Given the description of an element on the screen output the (x, y) to click on. 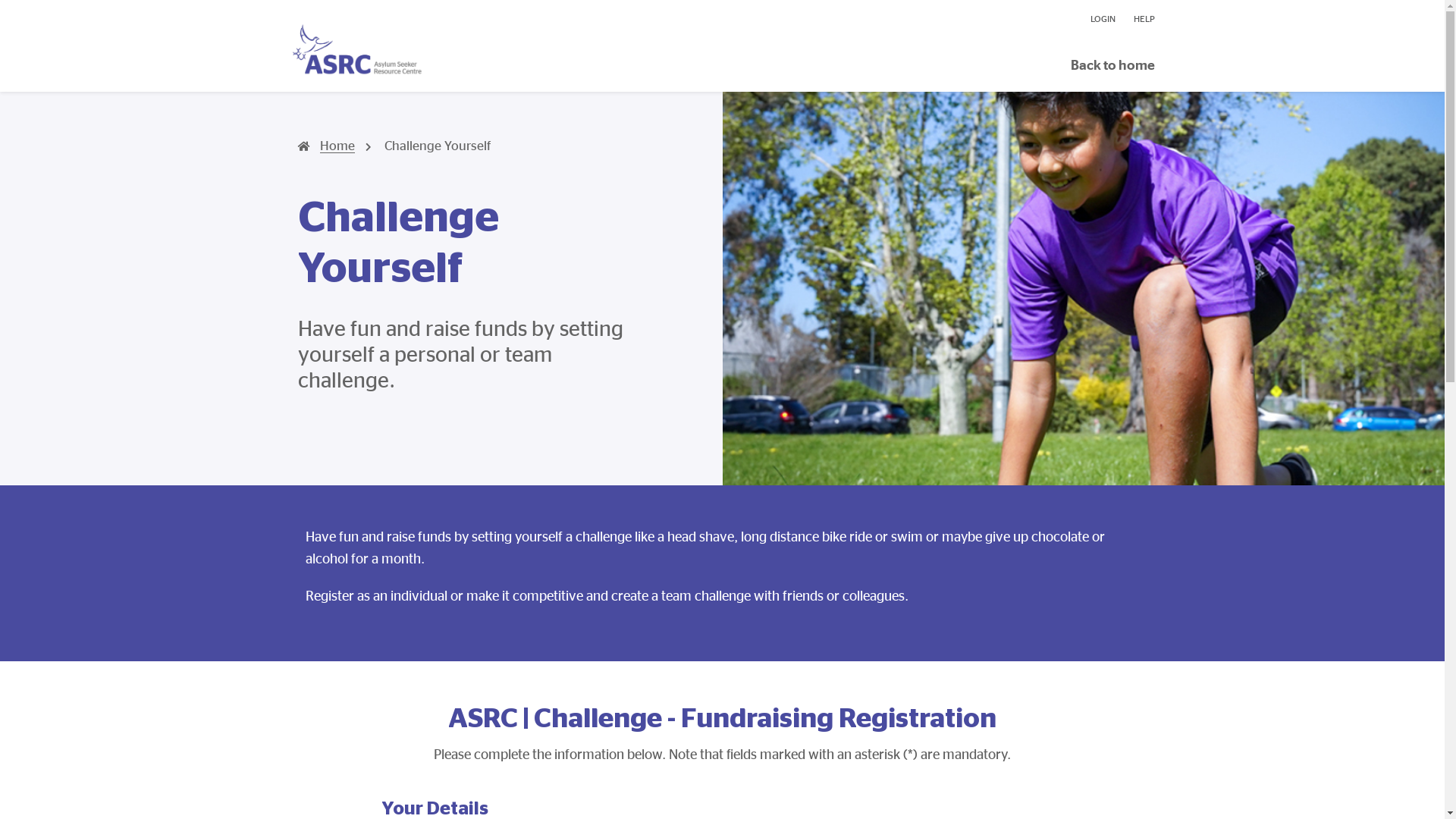
LOGIN Element type: text (1102, 18)
HELP Element type: text (1138, 18)
Back to home Element type: text (1112, 65)
 Home Element type: text (325, 145)
Confirm Details Element type: text (70, 18)
